Given the description of an element on the screen output the (x, y) to click on. 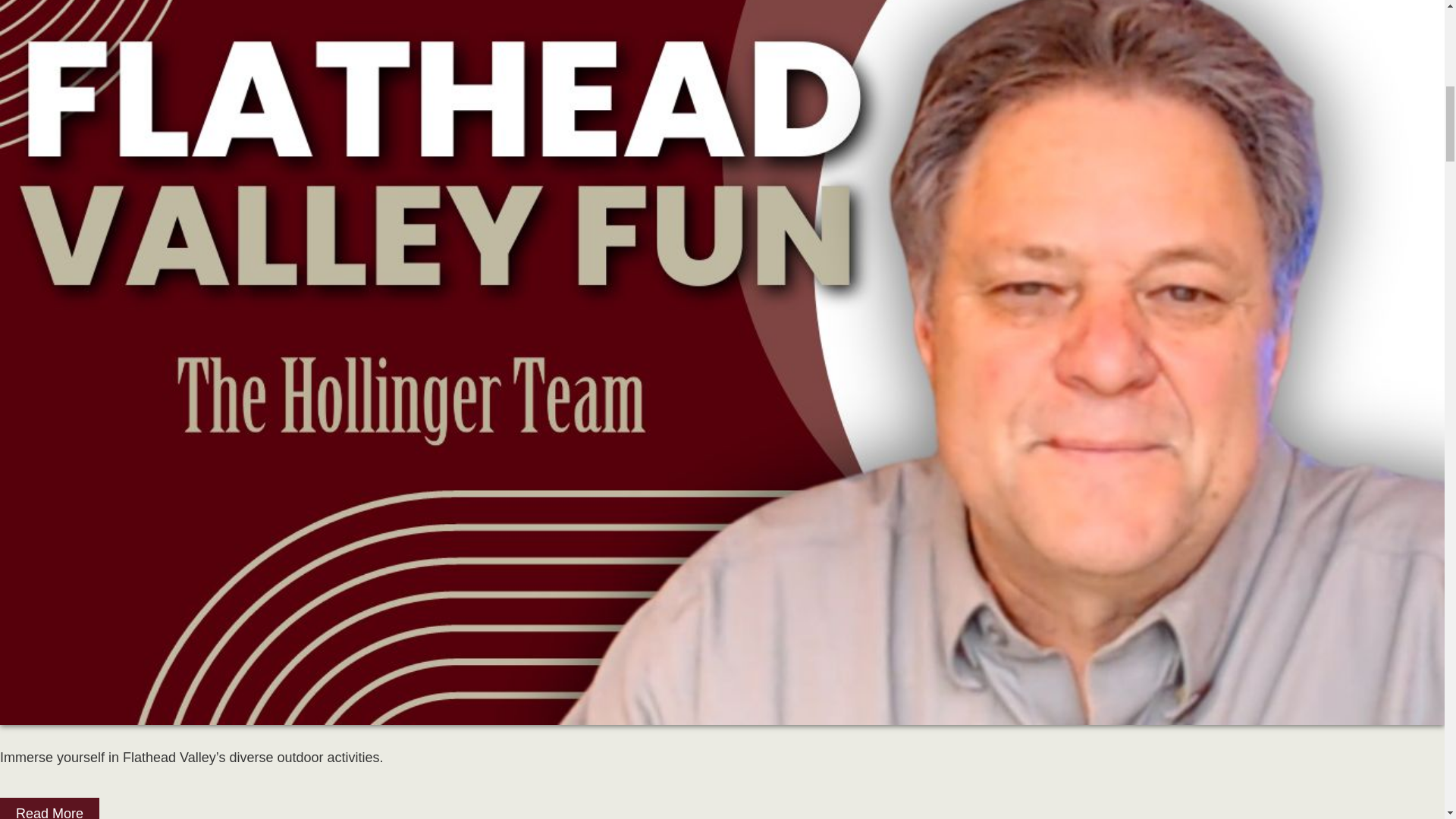
Read More (48, 808)
